Given the description of an element on the screen output the (x, y) to click on. 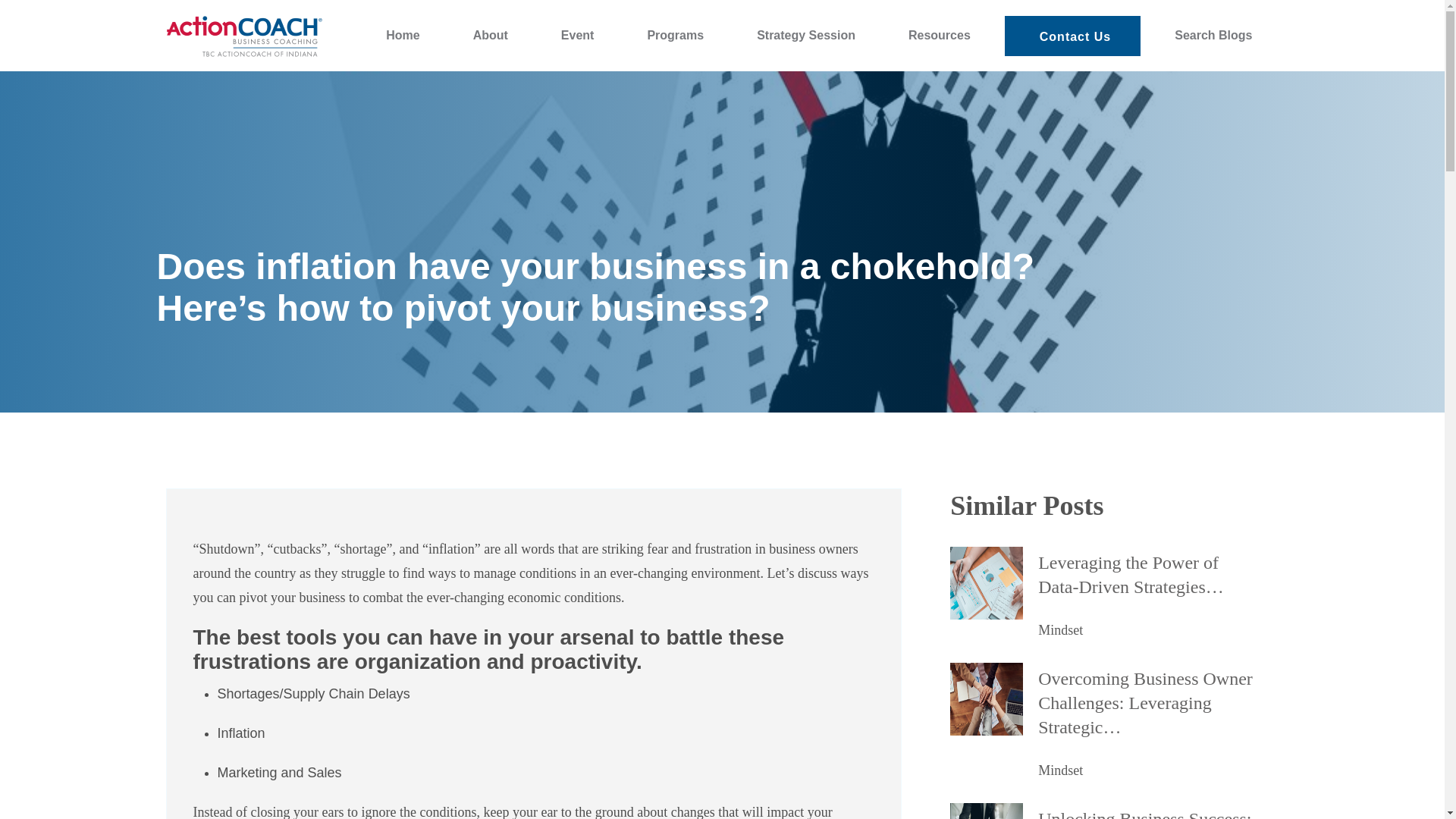
Resources (939, 35)
Programs (675, 35)
Action Coach (205, 65)
Event (577, 35)
Strategy Session (806, 35)
Home (402, 35)
About (490, 35)
